Given the description of an element on the screen output the (x, y) to click on. 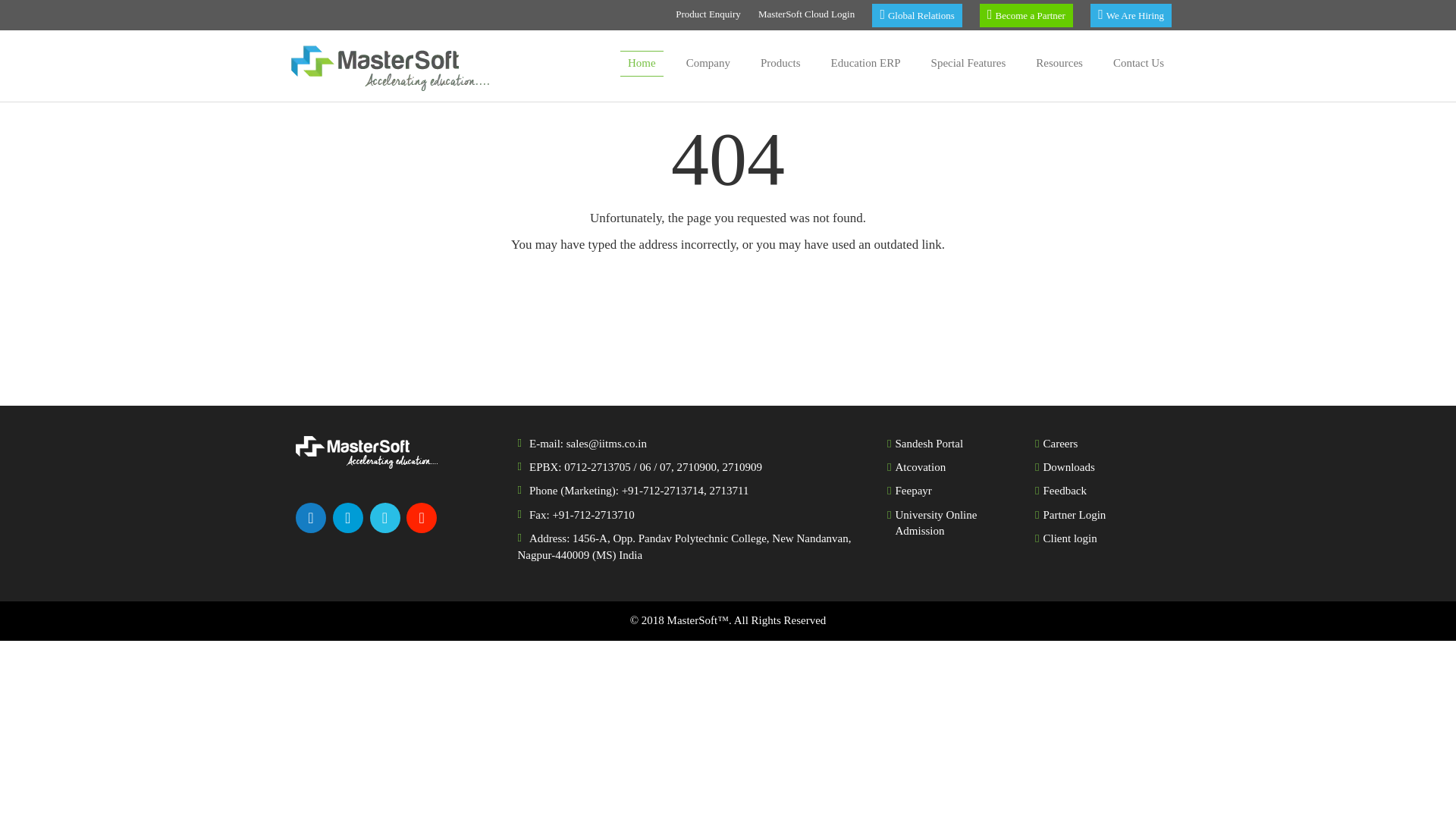
Product Enquiry (708, 15)
MastersoftERP Solution (641, 63)
Products (780, 63)
We Are Hiring (1131, 15)
Education ERP (864, 63)
MasterSoft Cloud Login (806, 15)
Global Relations (916, 15)
Special Features (968, 63)
Become a Partner (1026, 15)
Company (708, 63)
Home (641, 63)
